Given the description of an element on the screen output the (x, y) to click on. 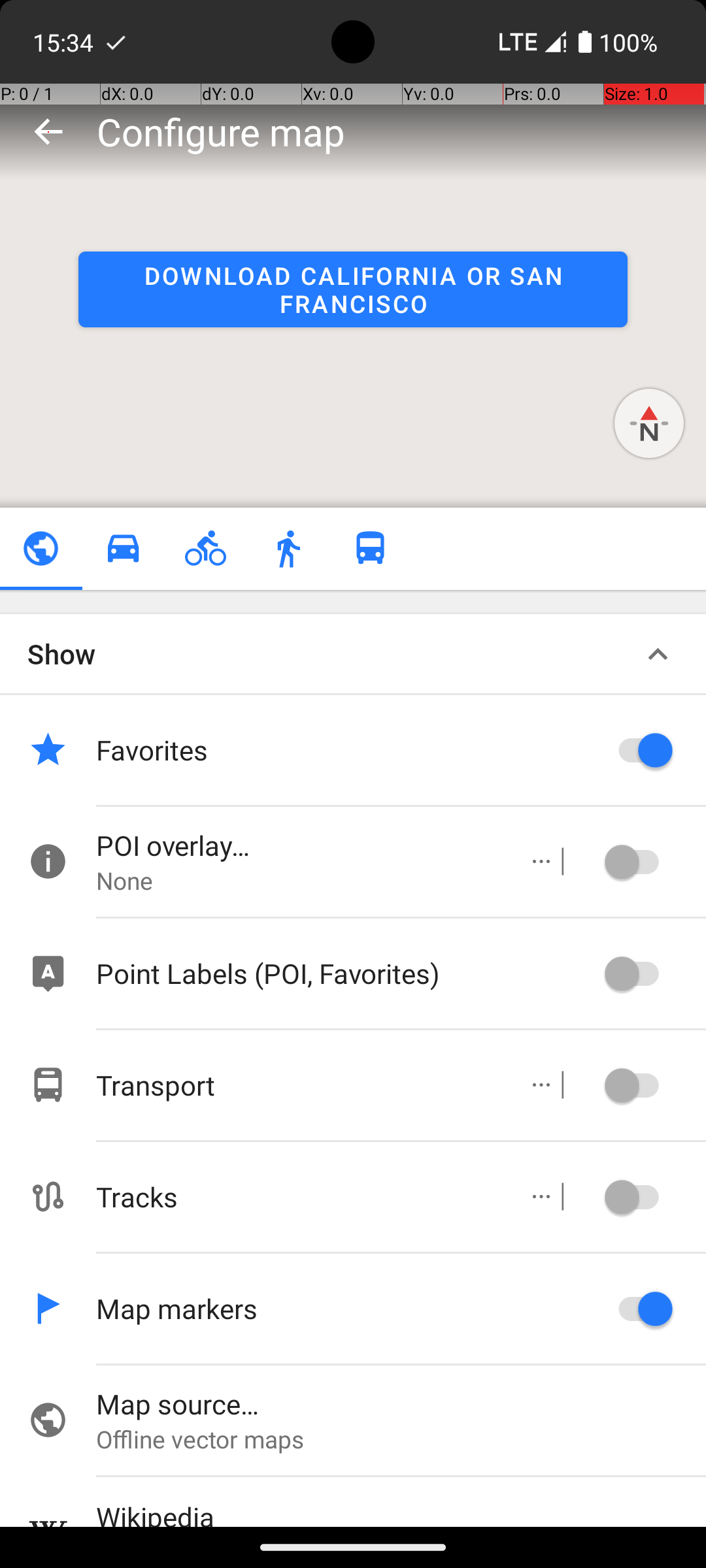
Back to map Element type: android.widget.ImageButton (48, 131)
DOWNLOAD CALIFORNIA OR SAN FRANCISCO Element type: android.widget.Button (352, 289)
Browse map checked Element type: android.widget.ImageView (40, 548)
Show Element type: android.widget.TextView (61, 653)
POI overlay… Element type: android.widget.TextView (298, 844)
Point Labels (POI, Favorites) Element type: android.widget.TextView (346, 972)
Transport Element type: android.widget.TextView (298, 1084)
Map source… Element type: android.widget.TextView (401, 1403)
Offline vector maps Element type: android.widget.TextView (401, 1438)
